Given the description of an element on the screen output the (x, y) to click on. 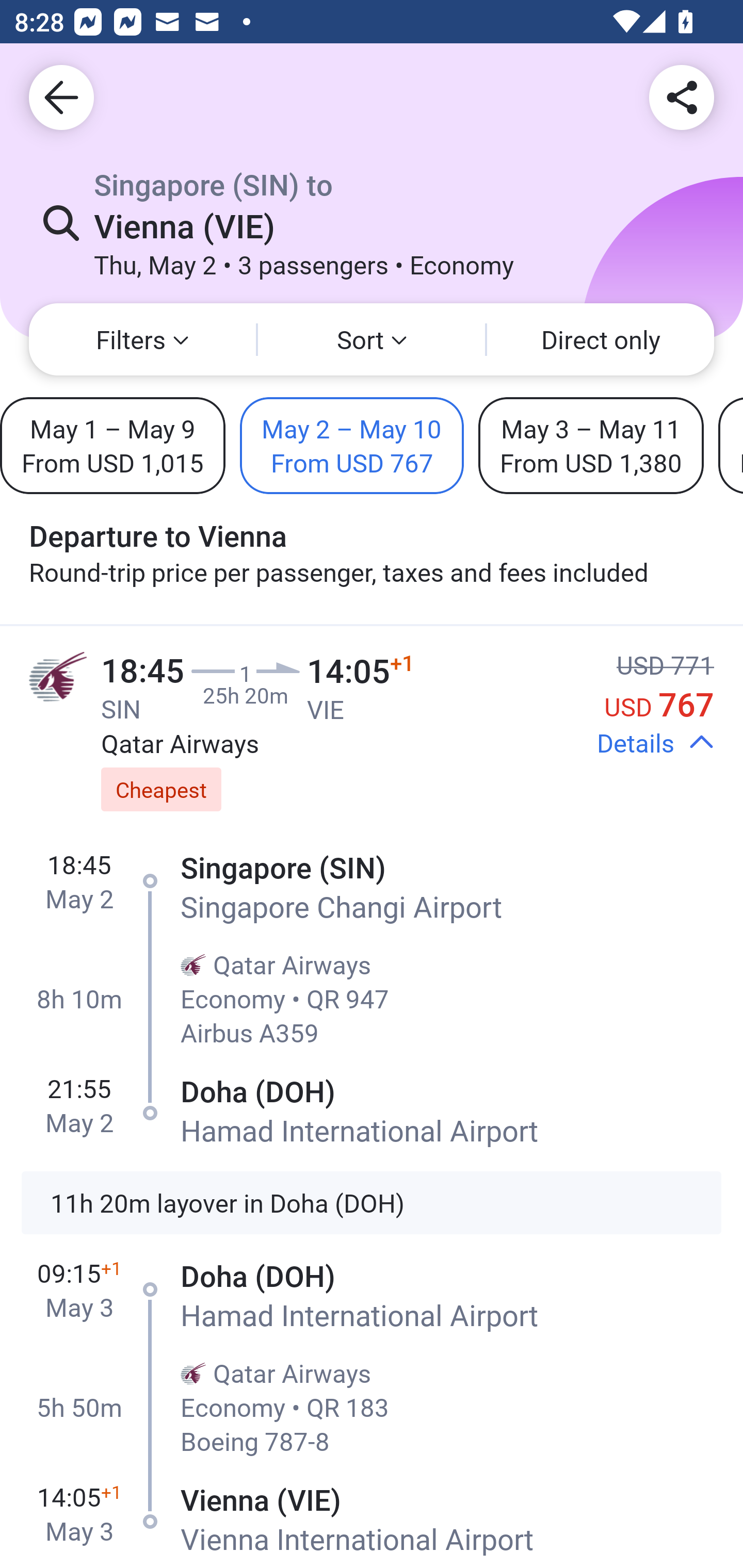
Filters (141, 339)
Sort (371, 339)
Direct only (600, 339)
May 1 – May 9 From USD 1,015 (112, 444)
May 2 – May 10 From USD 767 (351, 444)
May 3 – May 11 From USD 1,380 (590, 444)
